Given the description of an element on the screen output the (x, y) to click on. 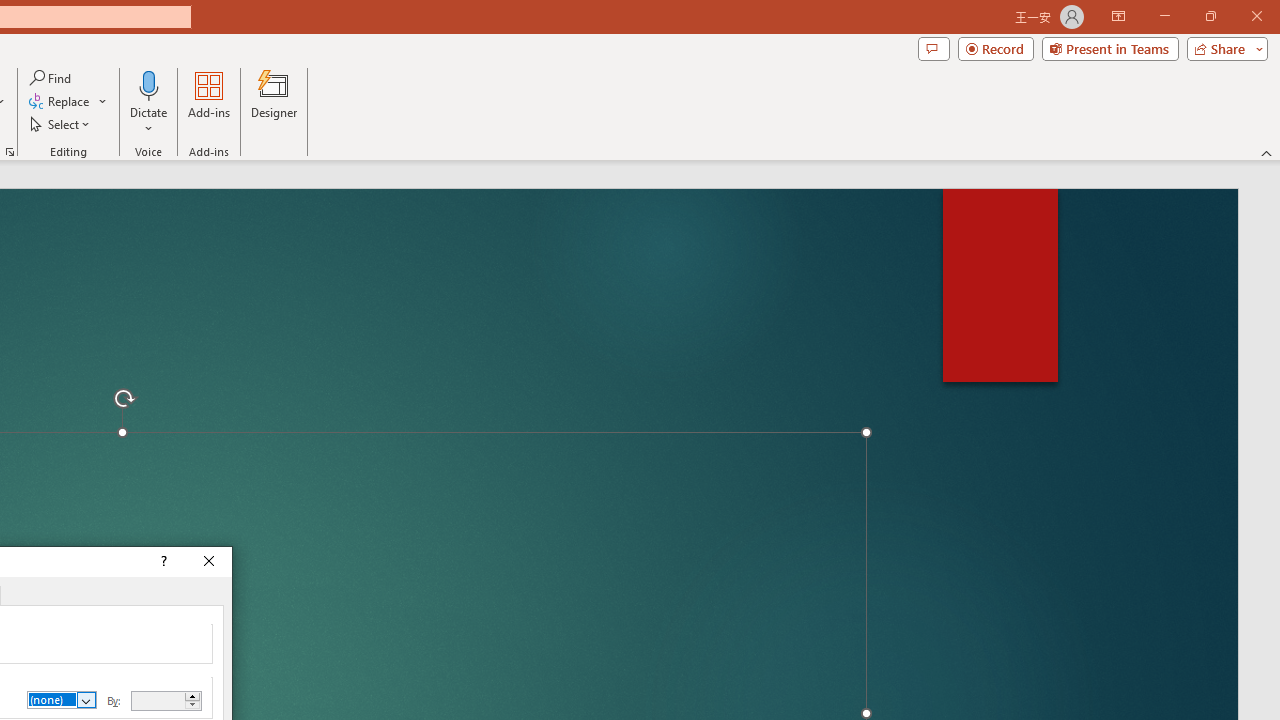
More (192, 696)
Special (61, 700)
By (157, 700)
